Given the description of an element on the screen output the (x, y) to click on. 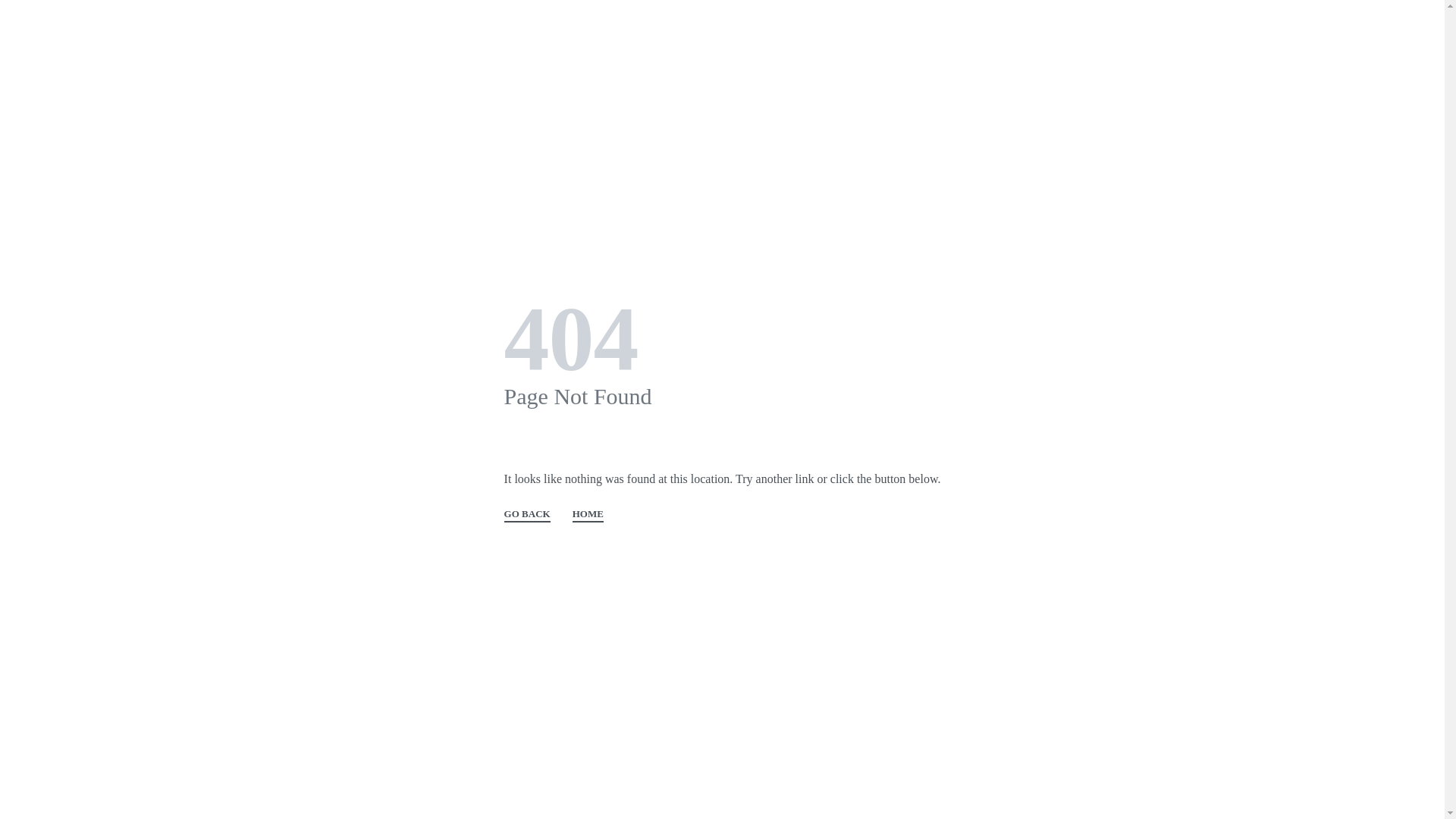
HOME Element type: text (587, 515)
GO BACK Element type: text (527, 515)
